Given the description of an element on the screen output the (x, y) to click on. 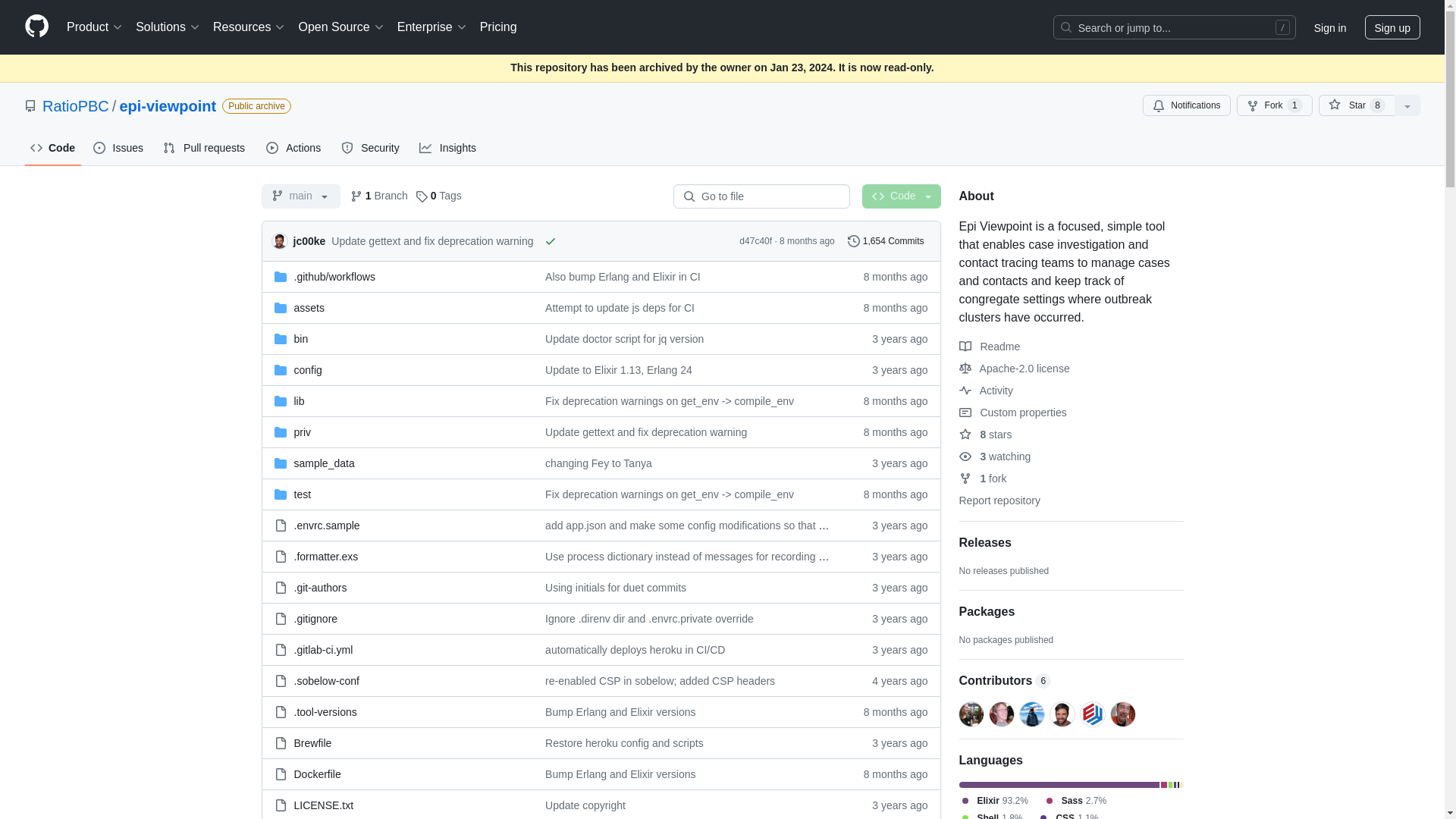
Also bump Erlang and Elixir in CI (622, 275)
Open Source (341, 27)
assets (309, 307)
Product (95, 27)
8 (1378, 105)
Resources (249, 27)
Solutions (167, 27)
This path skips through empty directories (334, 275)
Attempt to update js deps for CI (619, 307)
1 (1295, 105)
